Given the description of an element on the screen output the (x, y) to click on. 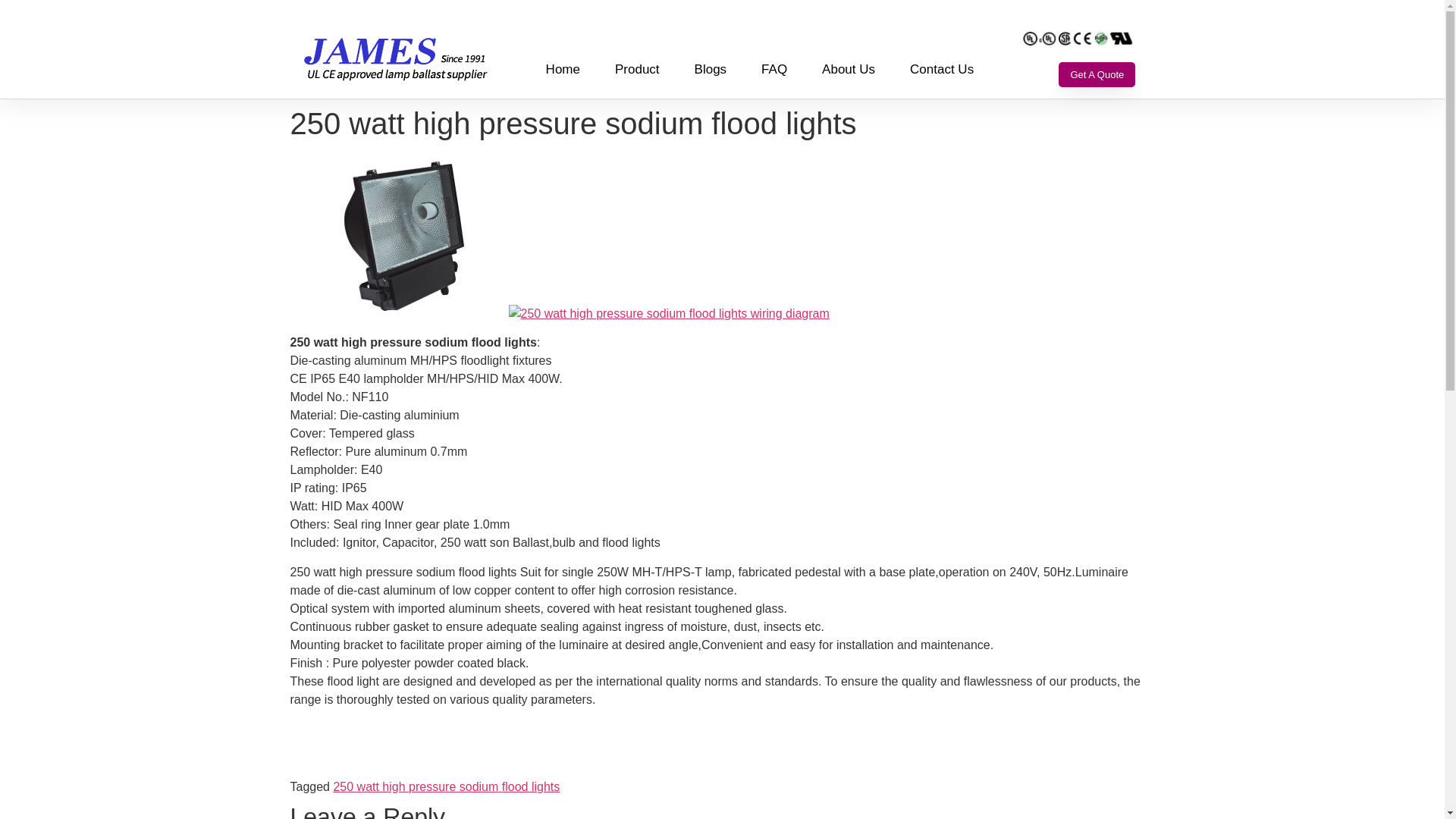
Get A Quote (1096, 74)
250 watt high pressure sodium flood lights (446, 786)
FAQ (774, 69)
Product (636, 69)
Blogs (710, 69)
About Us (848, 69)
Contact Us (941, 69)
Home (562, 69)
